Given the description of an element on the screen output the (x, y) to click on. 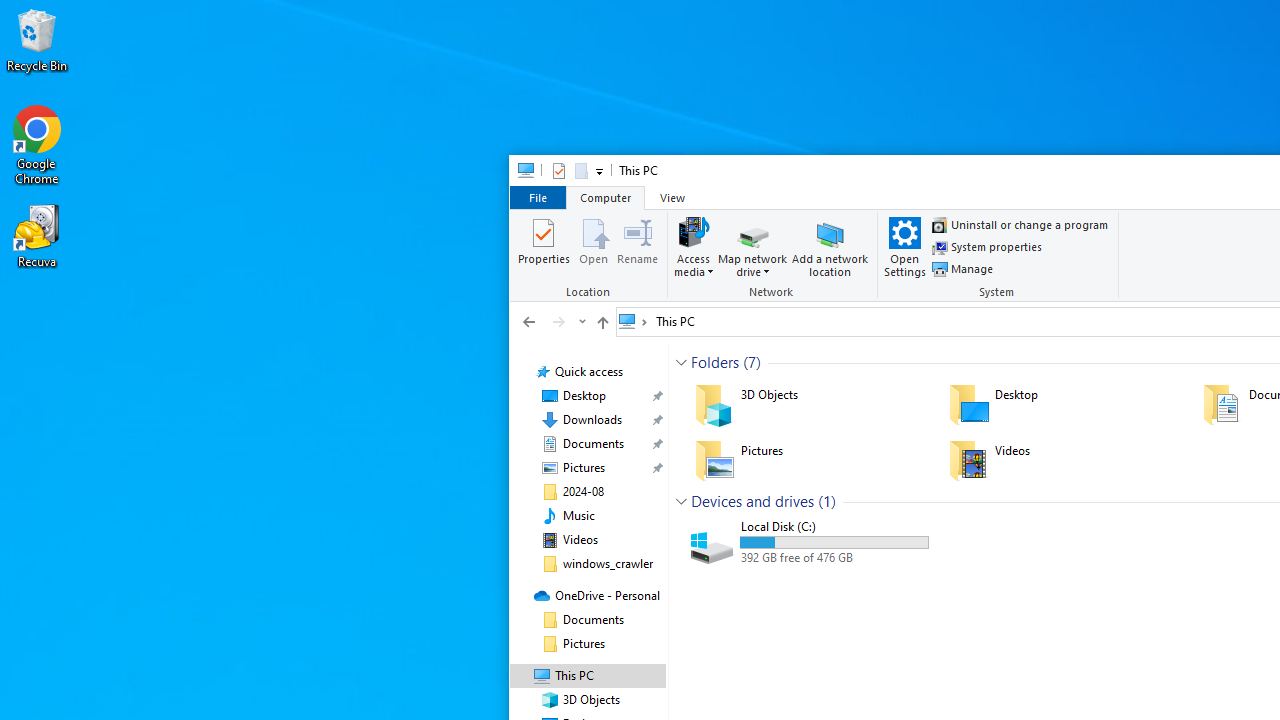
Documents (pinned) (592, 443)
Count (827, 501)
Rename (637, 246)
